Given the description of an element on the screen output the (x, y) to click on. 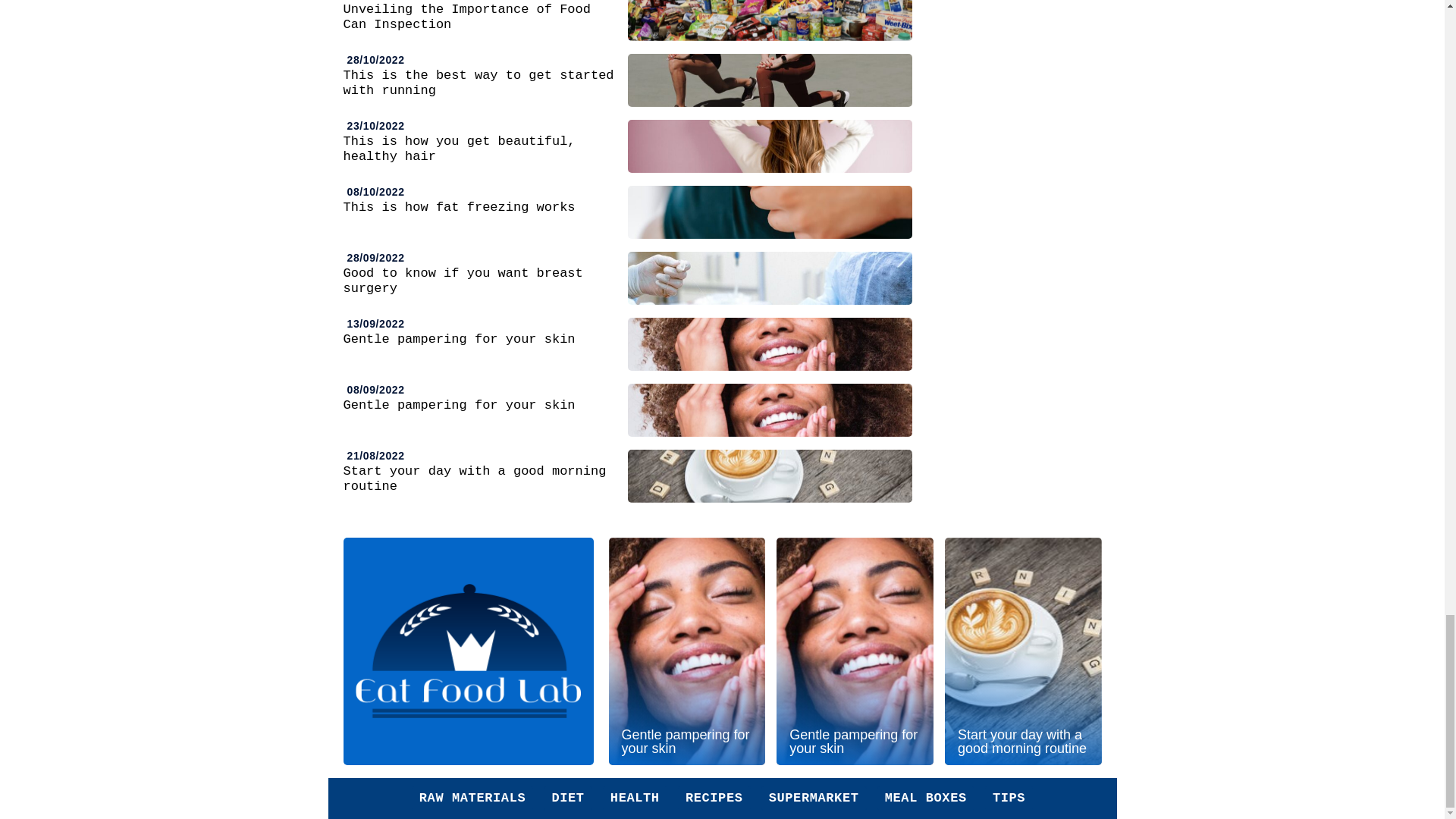
RAW MATERIALS (472, 798)
